Given the description of an element on the screen output the (x, y) to click on. 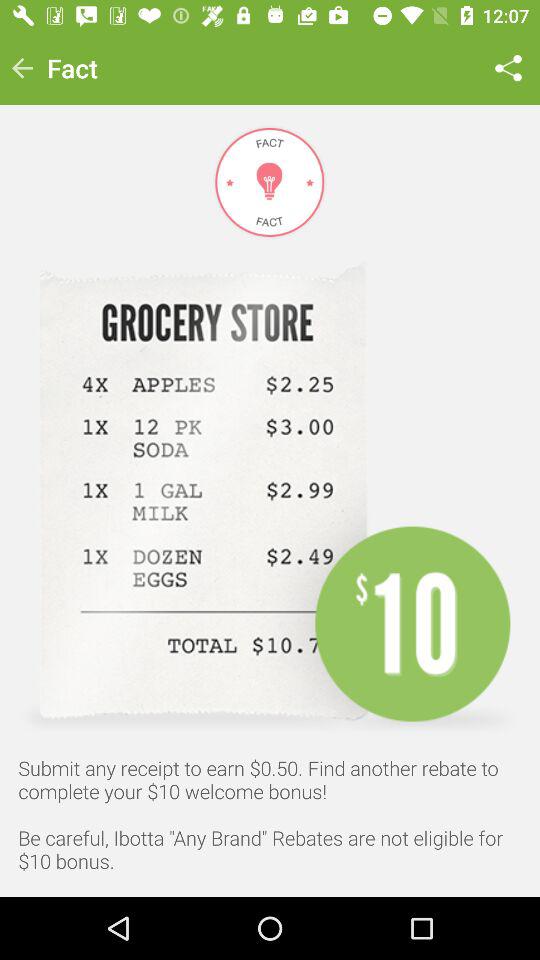
press item next to the fact icon (22, 67)
